Given the description of an element on the screen output the (x, y) to click on. 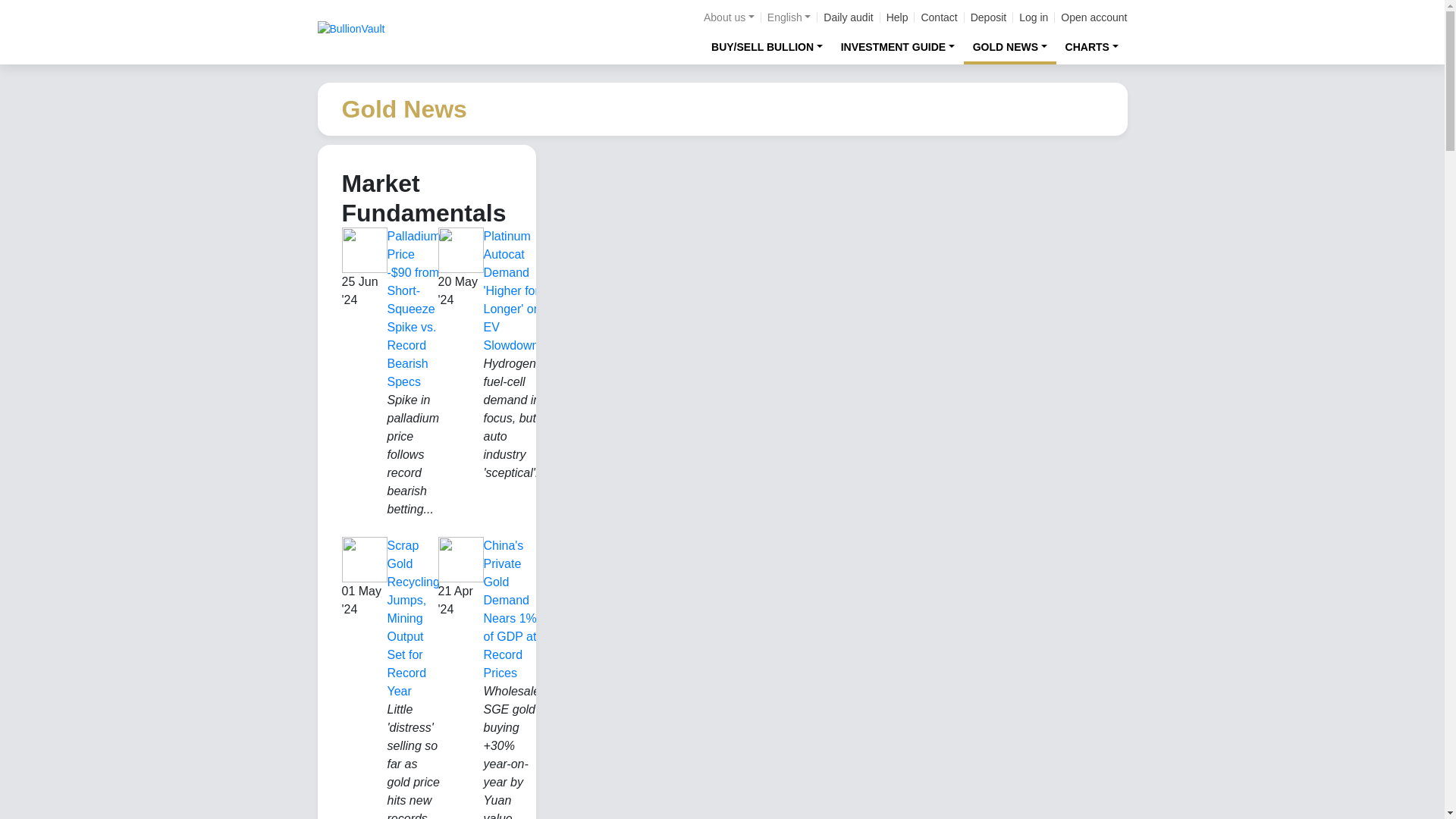
English (788, 17)
INVESTMENT GUIDE (897, 46)
Contact (938, 17)
Daily audit (848, 17)
Help (897, 17)
Deposit (988, 17)
Log in (1033, 17)
Open account (1093, 17)
About us (728, 17)
